Given the description of an element on the screen output the (x, y) to click on. 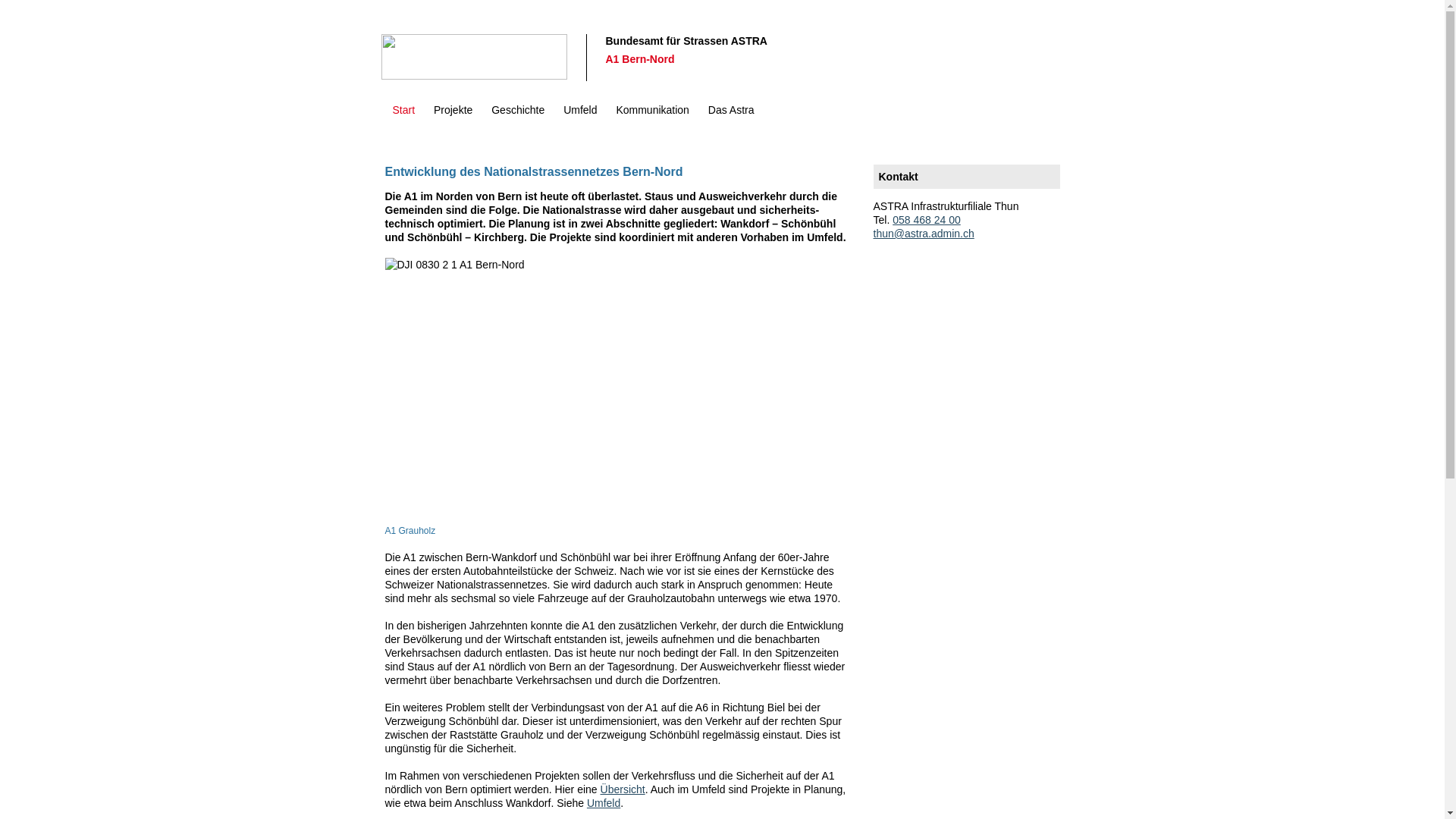
Start Element type: text (404, 117)
Kommunikation Element type: text (652, 116)
Projekte Element type: text (453, 116)
Geschichte Element type: text (517, 116)
Umfeld Element type: text (579, 116)
Das Astra Element type: text (731, 116)
thun@astra.admin.ch Element type: text (923, 233)
058 468 24 00 Element type: text (926, 219)
Umfeld Element type: text (603, 803)
